Given the description of an element on the screen output the (x, y) to click on. 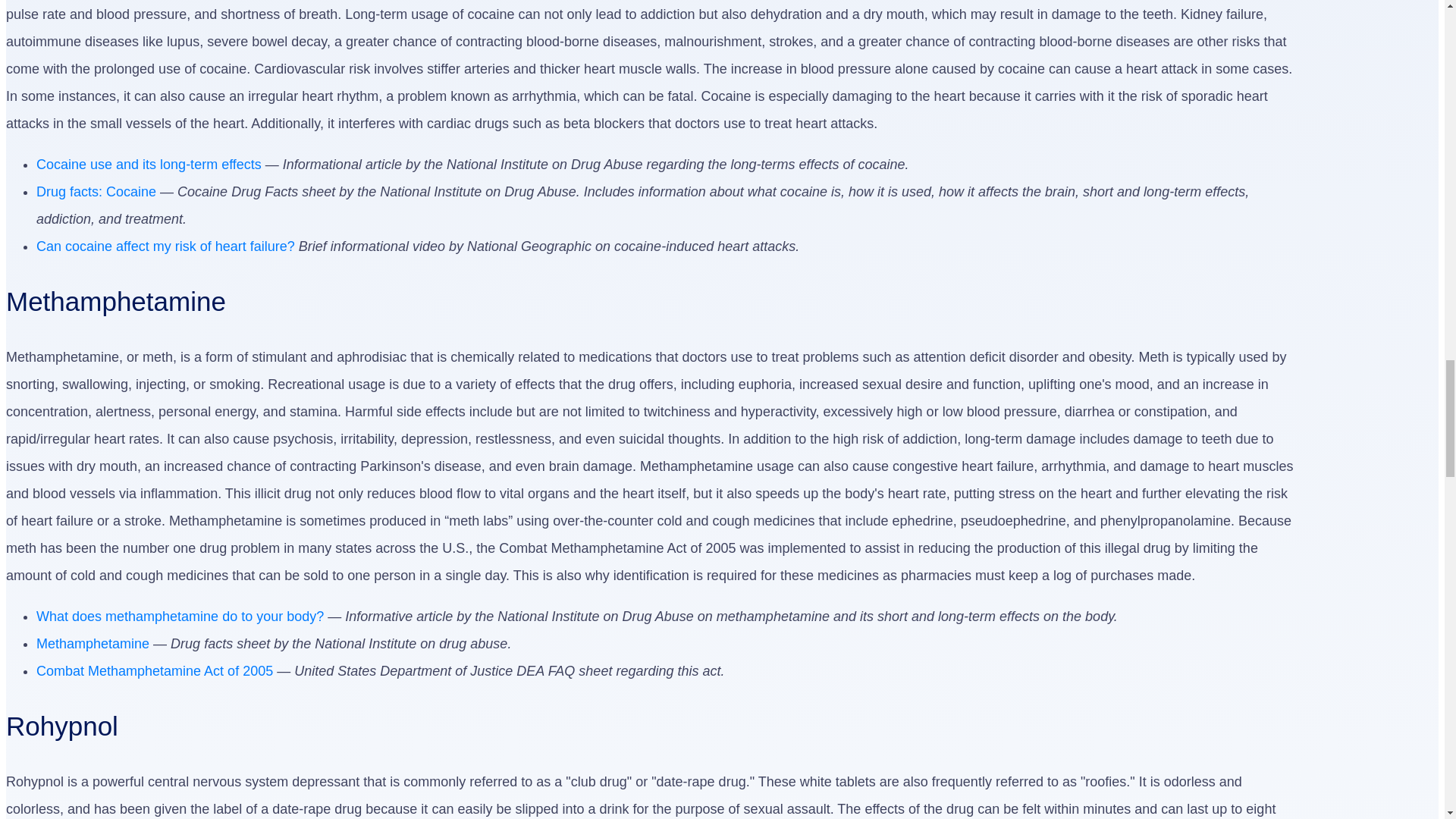
Can cocaine affect my risk of heart failure? (165, 246)
Drug facts: Cocaine (95, 191)
Cocaine use and its long-term effects (149, 164)
